Given the description of an element on the screen output the (x, y) to click on. 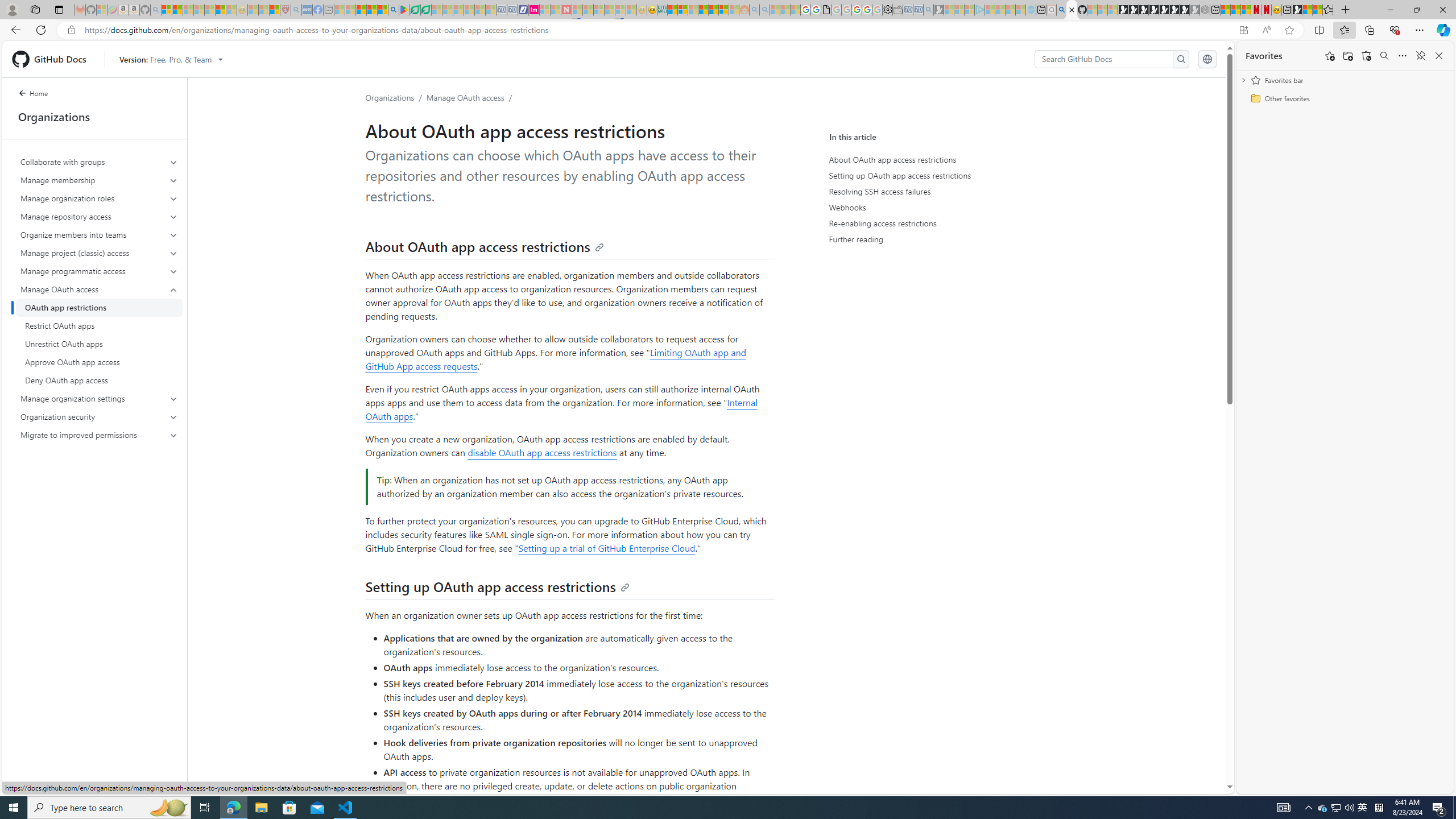
Select language: current language is English (1207, 58)
Deny OAuth app access (99, 380)
Further reading (933, 239)
Restrict OAuth apps (99, 325)
Resolving SSH access failures (933, 191)
Bluey: Let's Play! - Apps on Google Play (404, 9)
Migrate to improved permissions (99, 434)
Re-enabling access restrictions (935, 223)
